Given the description of an element on the screen output the (x, y) to click on. 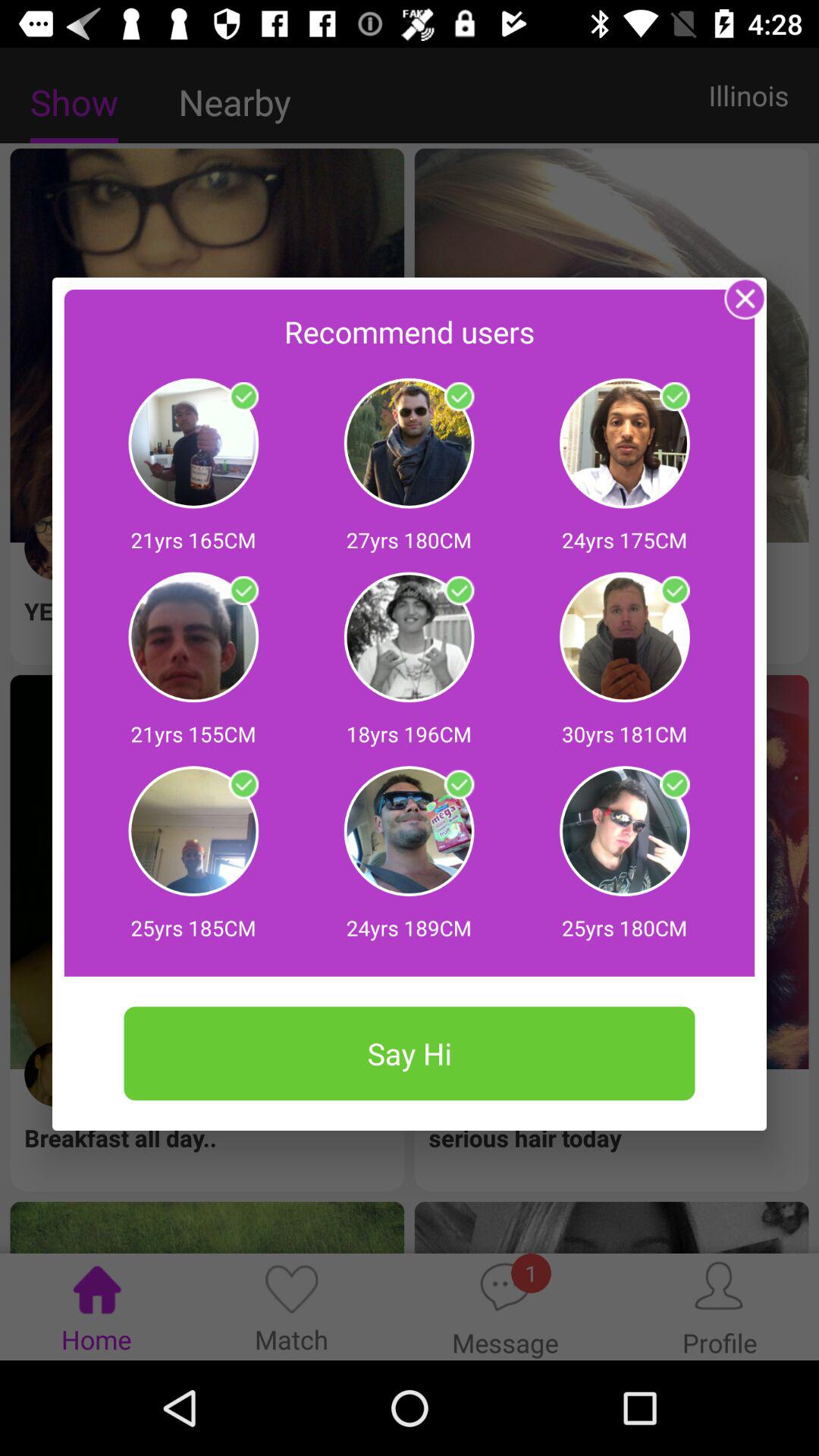
click symbol (243, 590)
